Given the description of an element on the screen output the (x, y) to click on. 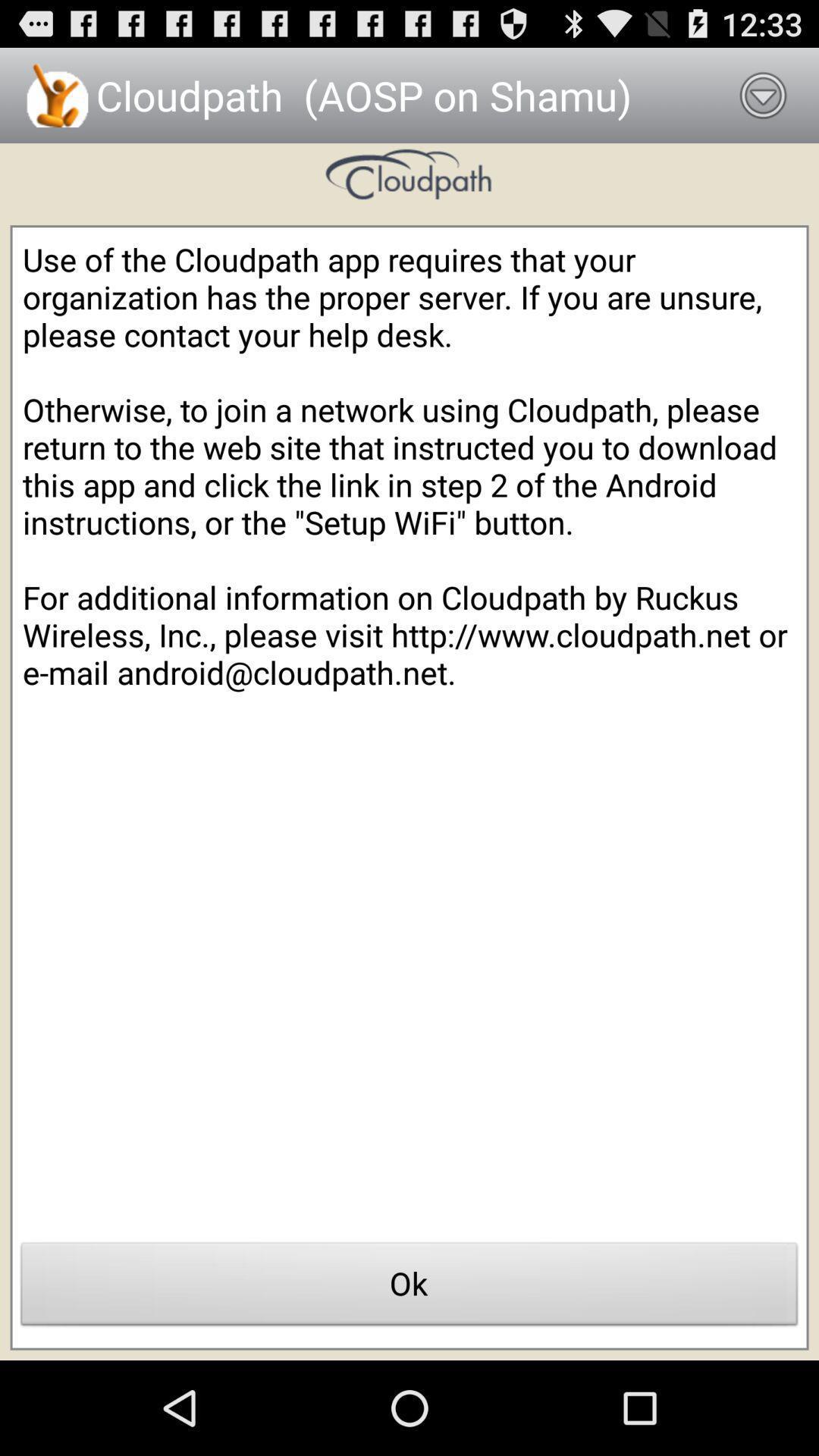
turn on item above the use of the item (763, 95)
